Given the description of an element on the screen output the (x, y) to click on. 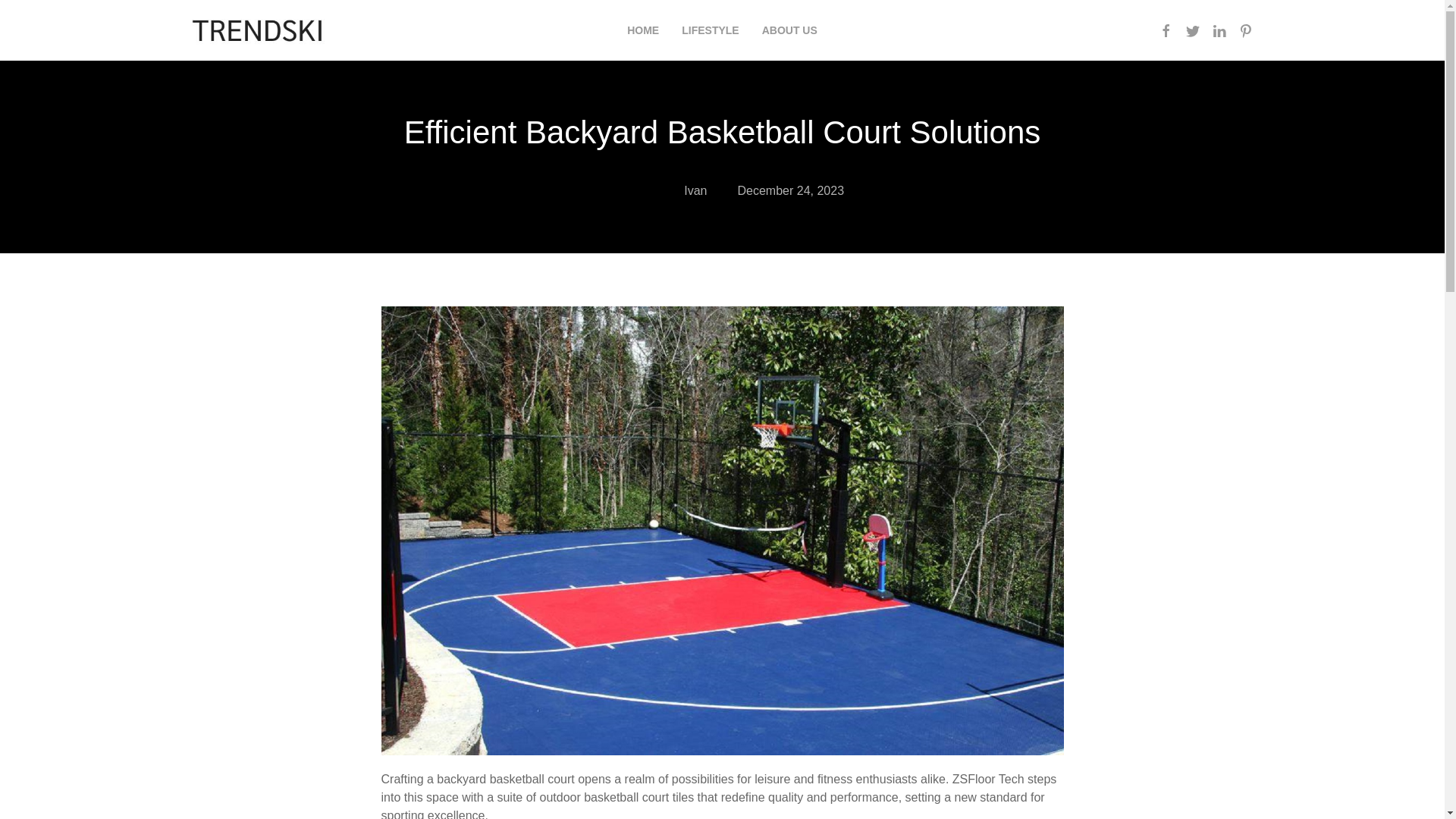
ABOUT US (788, 30)
LIFESTYLE (709, 30)
